Given the description of an element on the screen output the (x, y) to click on. 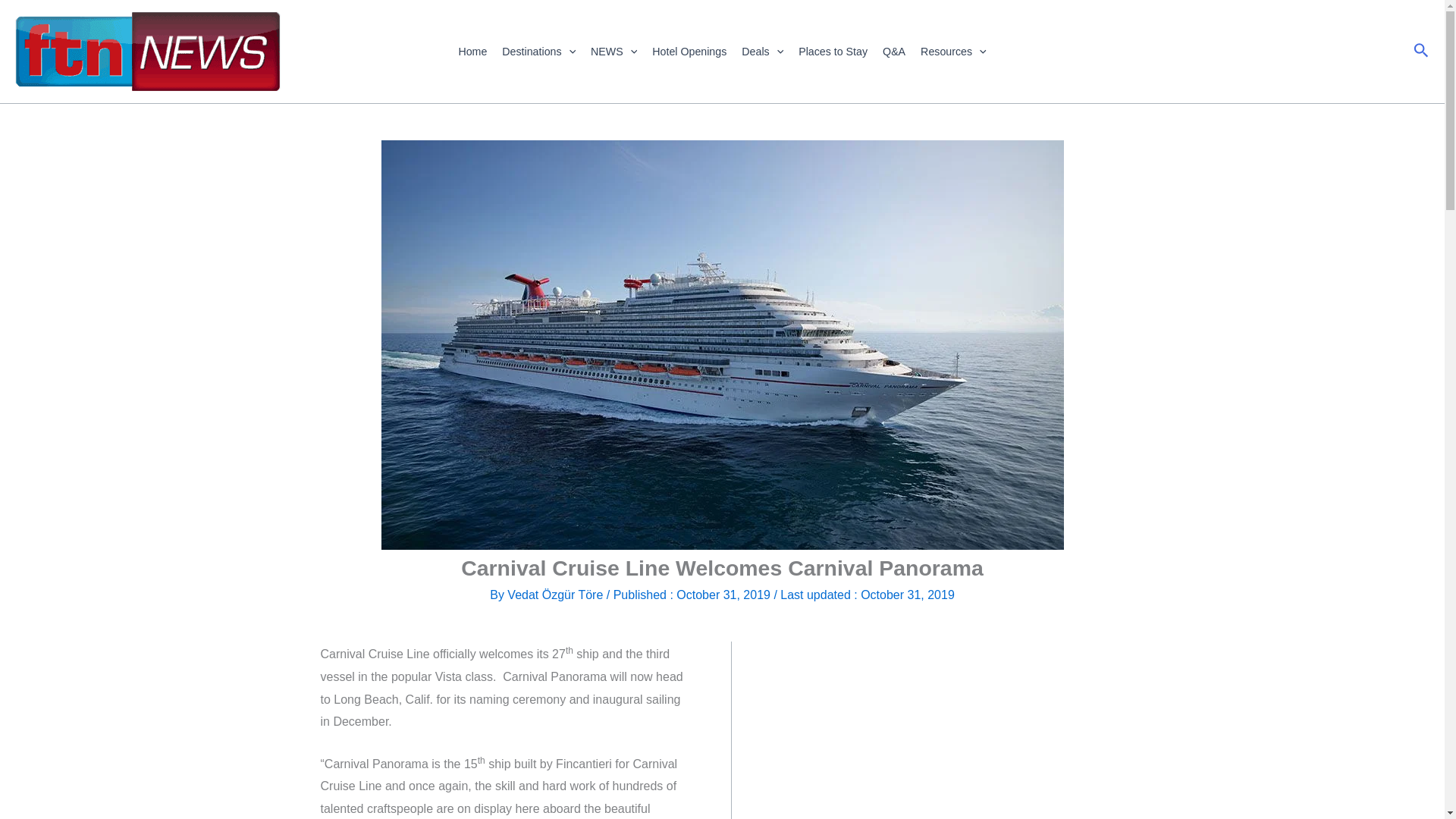
Destinations (539, 51)
NEWS (614, 51)
